Given the description of an element on the screen output the (x, y) to click on. 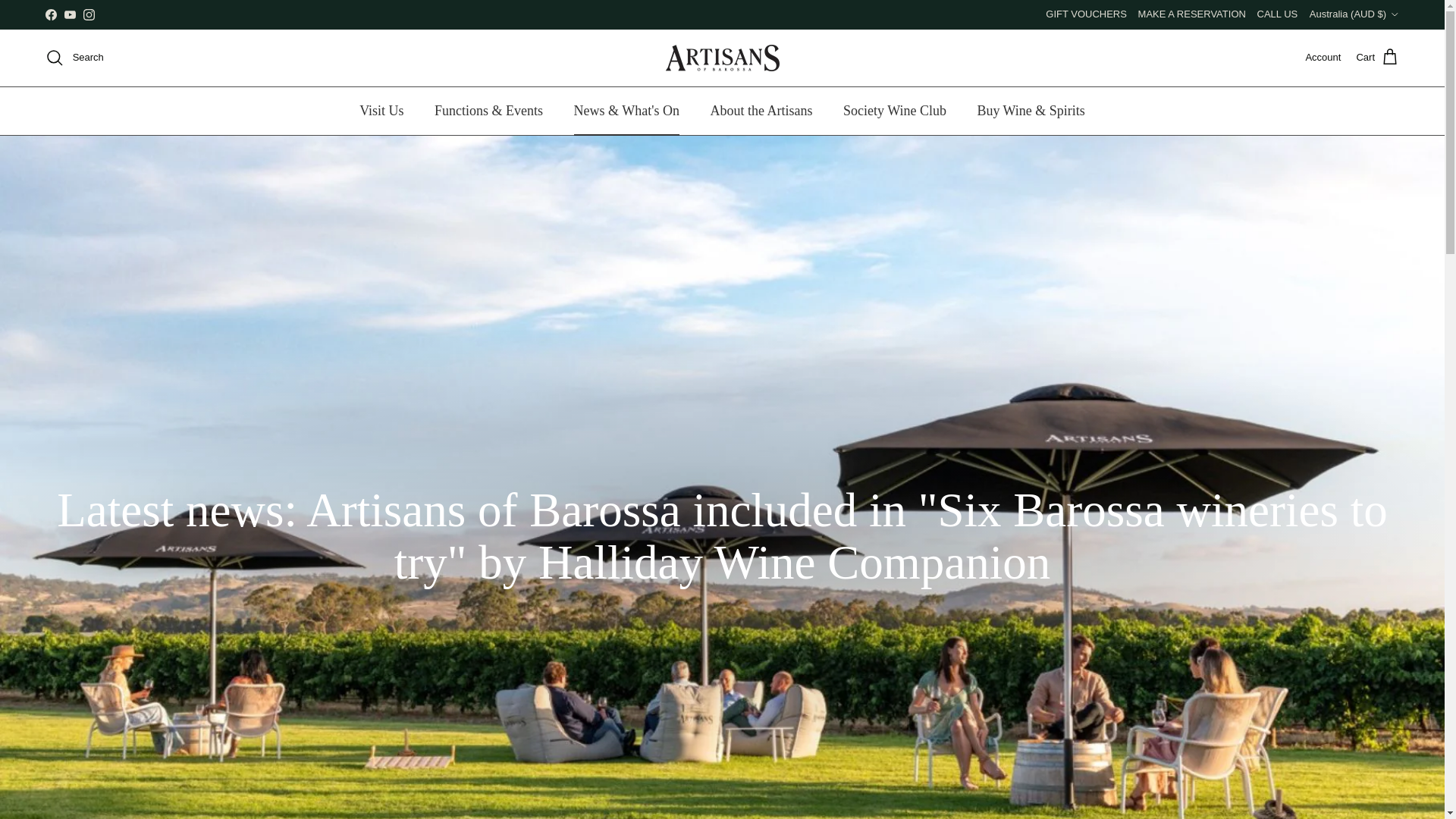
Artisans of Barossa on YouTube (69, 14)
Facebook (50, 14)
Cart (1377, 57)
CALL US (1277, 14)
Artisans of Barossa on Instagram (88, 14)
Instagram (88, 14)
Search (74, 57)
GIFT VOUCHERS (1085, 14)
Artisans of Barossa (721, 58)
Artisans of Barossa on Facebook (50, 14)
